Given the description of an element on the screen output the (x, y) to click on. 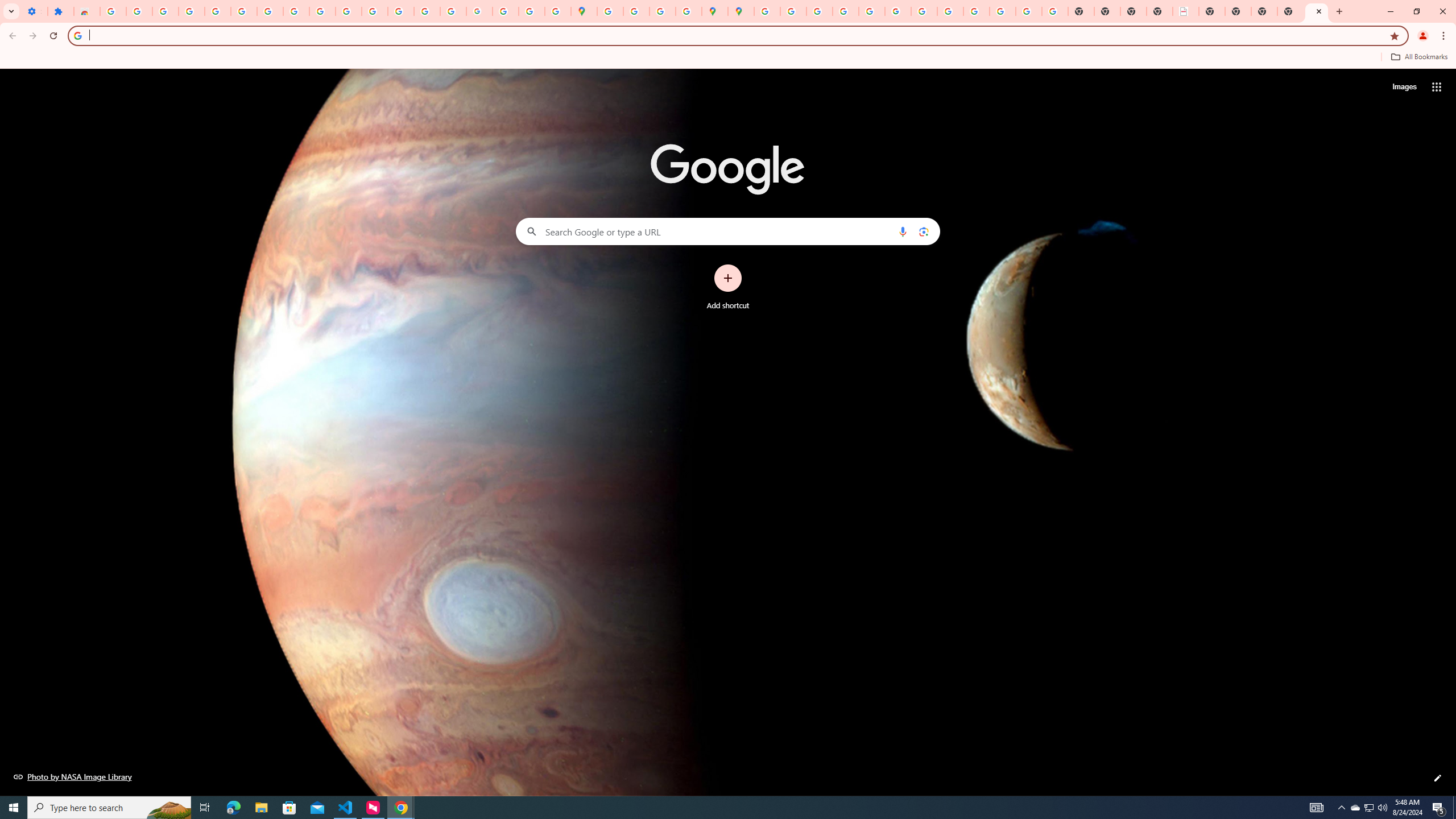
https://scholar.google.com/ (374, 11)
